Given the description of an element on the screen output the (x, y) to click on. 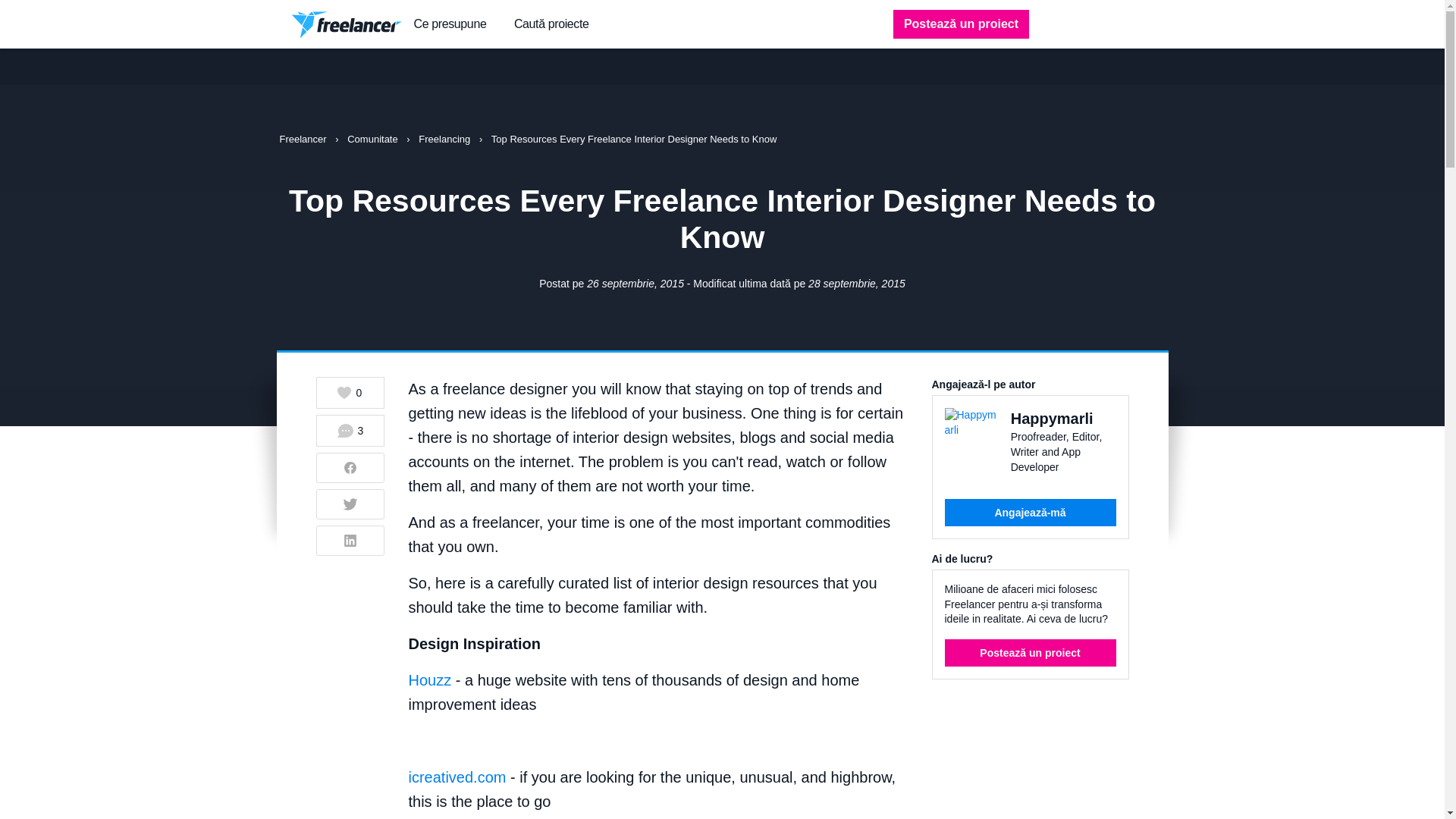
Voturile utilizatorilor (348, 393)
Ce presupune (449, 24)
Comunitate (373, 138)
Freelancing (446, 138)
Freelancer (304, 138)
Houzz (429, 679)
3 (349, 430)
icreatived.com (456, 777)
